Given the description of an element on the screen output the (x, y) to click on. 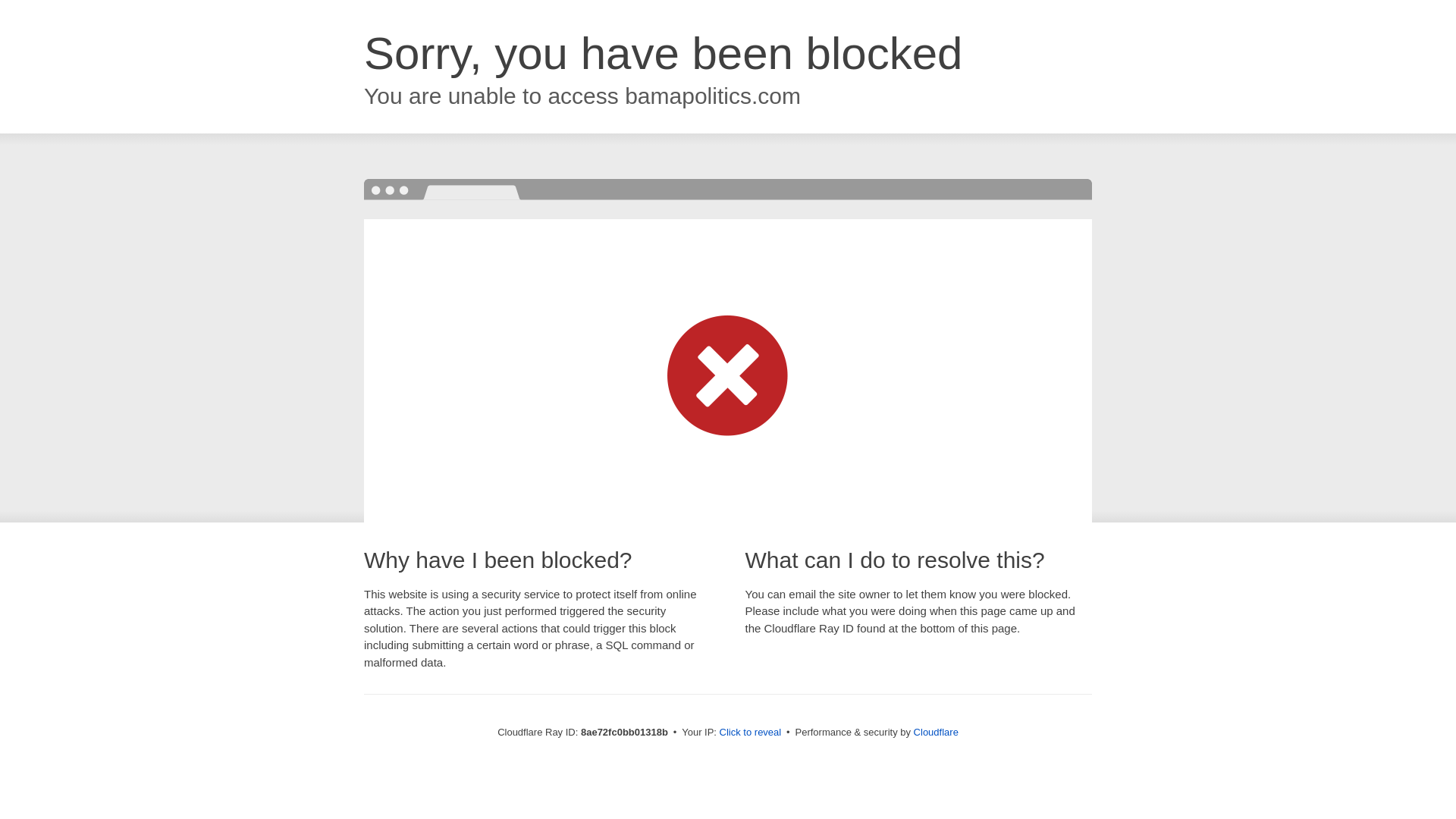
Click to reveal (750, 732)
Cloudflare (936, 731)
